Given the description of an element on the screen output the (x, y) to click on. 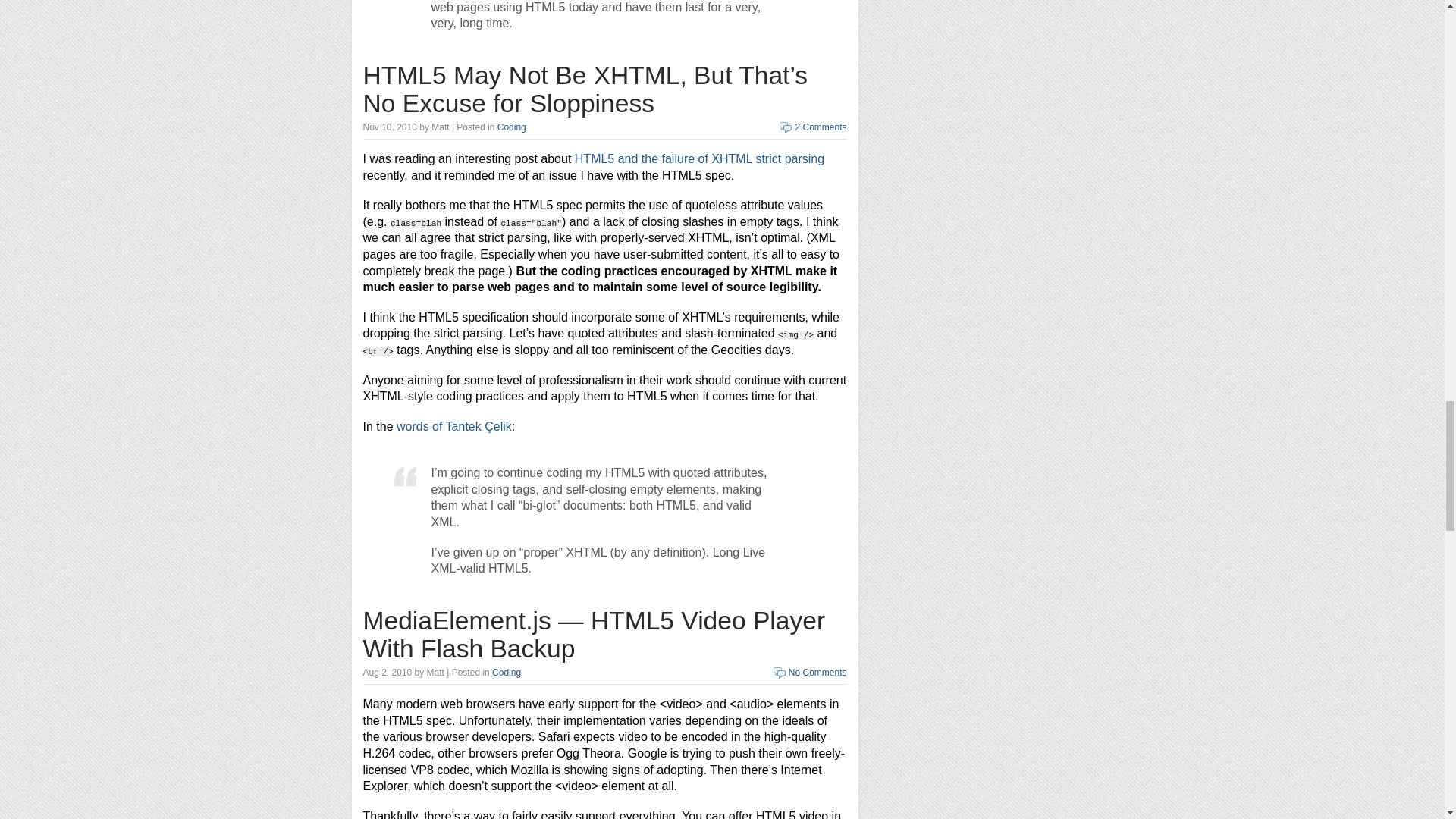
Coding (511, 127)
Coding (506, 672)
No Comments (818, 672)
HTML5 and the failure of XHTML strict parsing (699, 158)
2 Comments (819, 127)
